Given the description of an element on the screen output the (x, y) to click on. 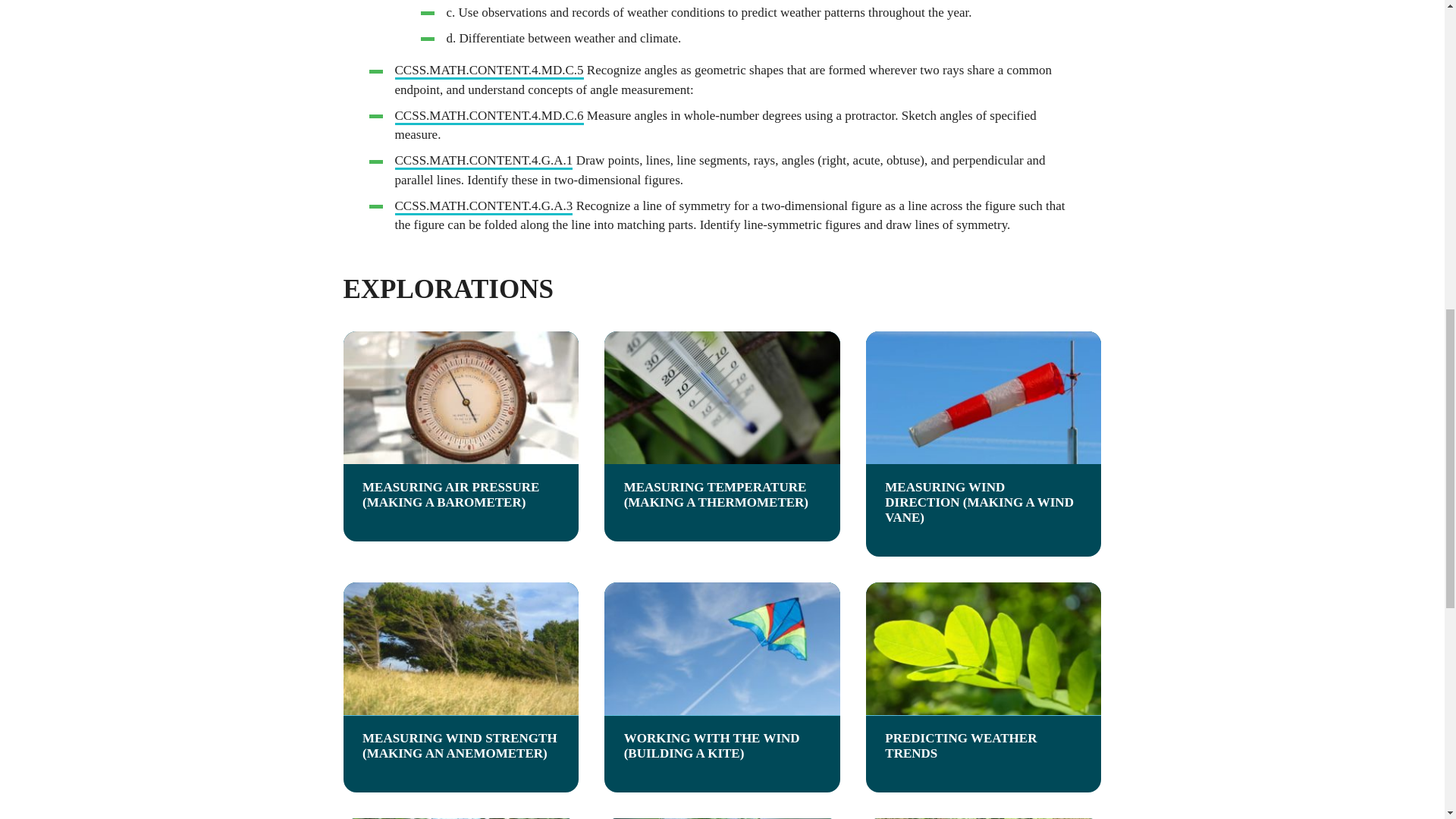
Scroll back to top (1406, 720)
CCSS.MATH.CONTENT.4.MD.C.5 (488, 71)
PREDICTING WEATHER TRENDS (984, 687)
CCSS.MATH.CONTENT.4.G.A.3 (483, 207)
CCSS.MATH.CONTENT.4.G.A.1 (483, 161)
CCSS.MATH.CONTENT.4.MD.C.6 (488, 116)
